Given the description of an element on the screen output the (x, y) to click on. 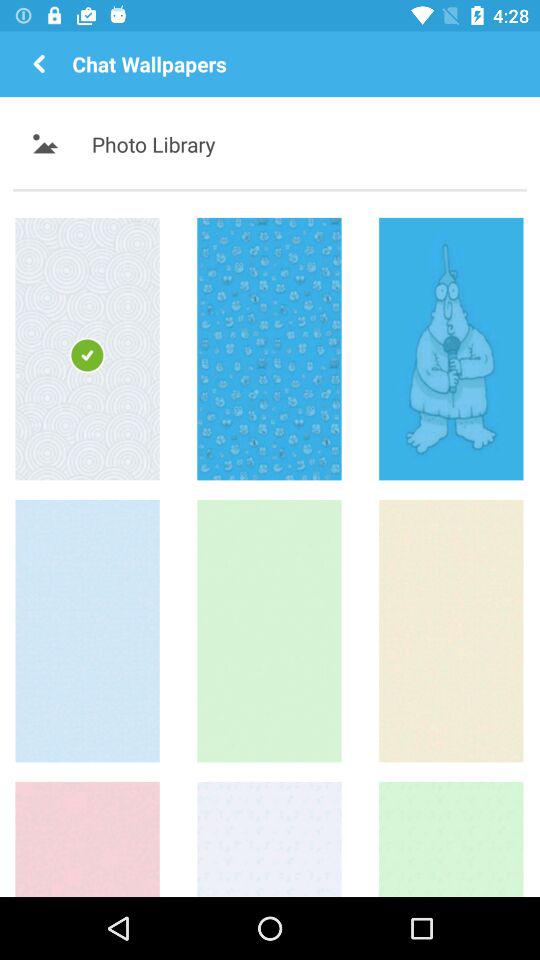
click on the selected wallpaper image (87, 348)
select the second button in second row (269, 631)
select the second image in the third row (269, 839)
select the color which is on the bottom right corner of the page (451, 839)
